Given the description of an element on the screen output the (x, y) to click on. 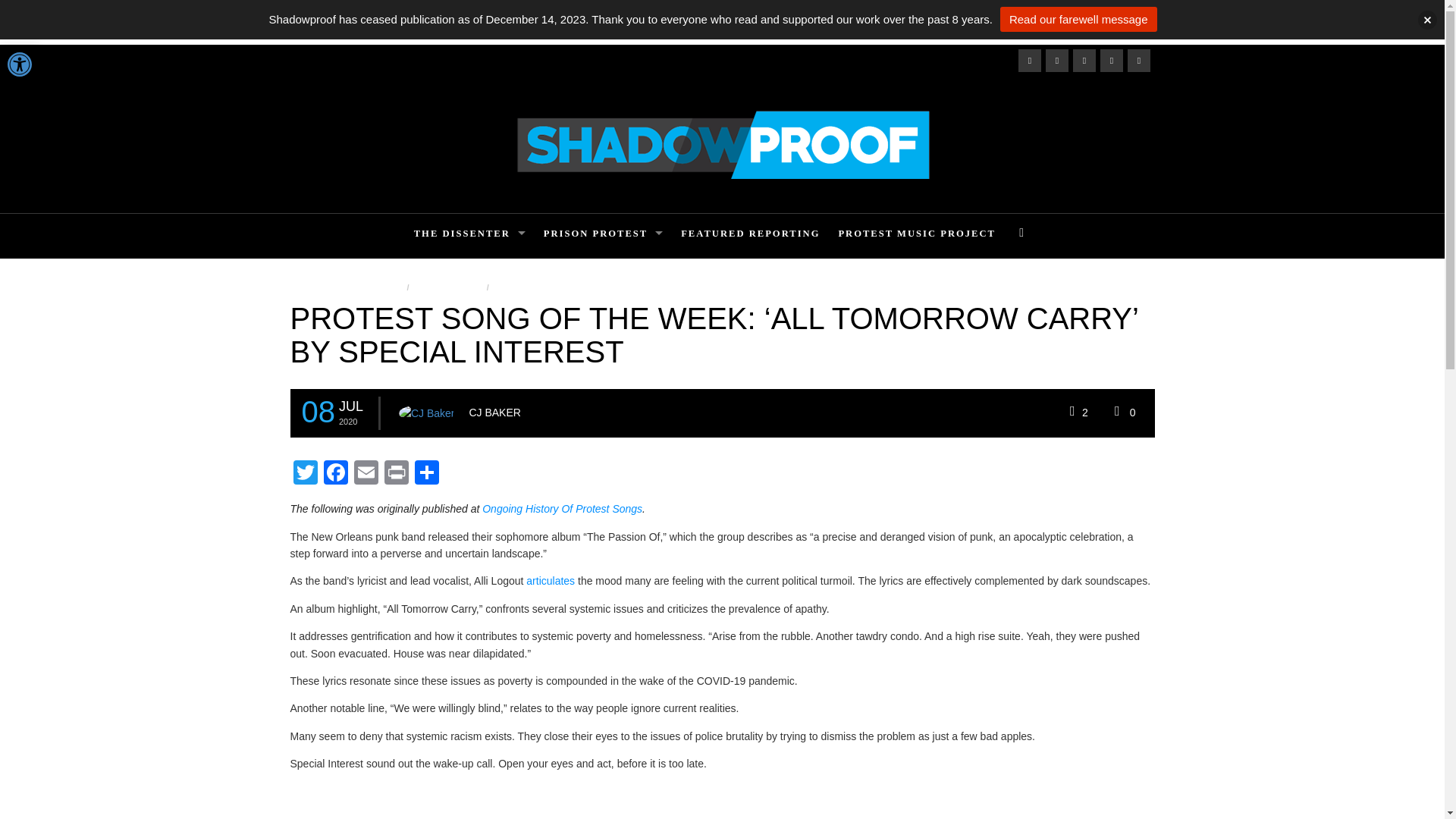
RSS (1082, 60)
View all posts by CJ Baker (493, 412)
Print (395, 474)
Instagram (1056, 60)
Accessibility Tools (19, 64)
View all posts in Latest News (445, 287)
View all posts by CJ Baker (426, 412)
View all posts in Dissenter Featured (346, 287)
Email (365, 474)
Youtube (1138, 60)
